Given the description of an element on the screen output the (x, y) to click on. 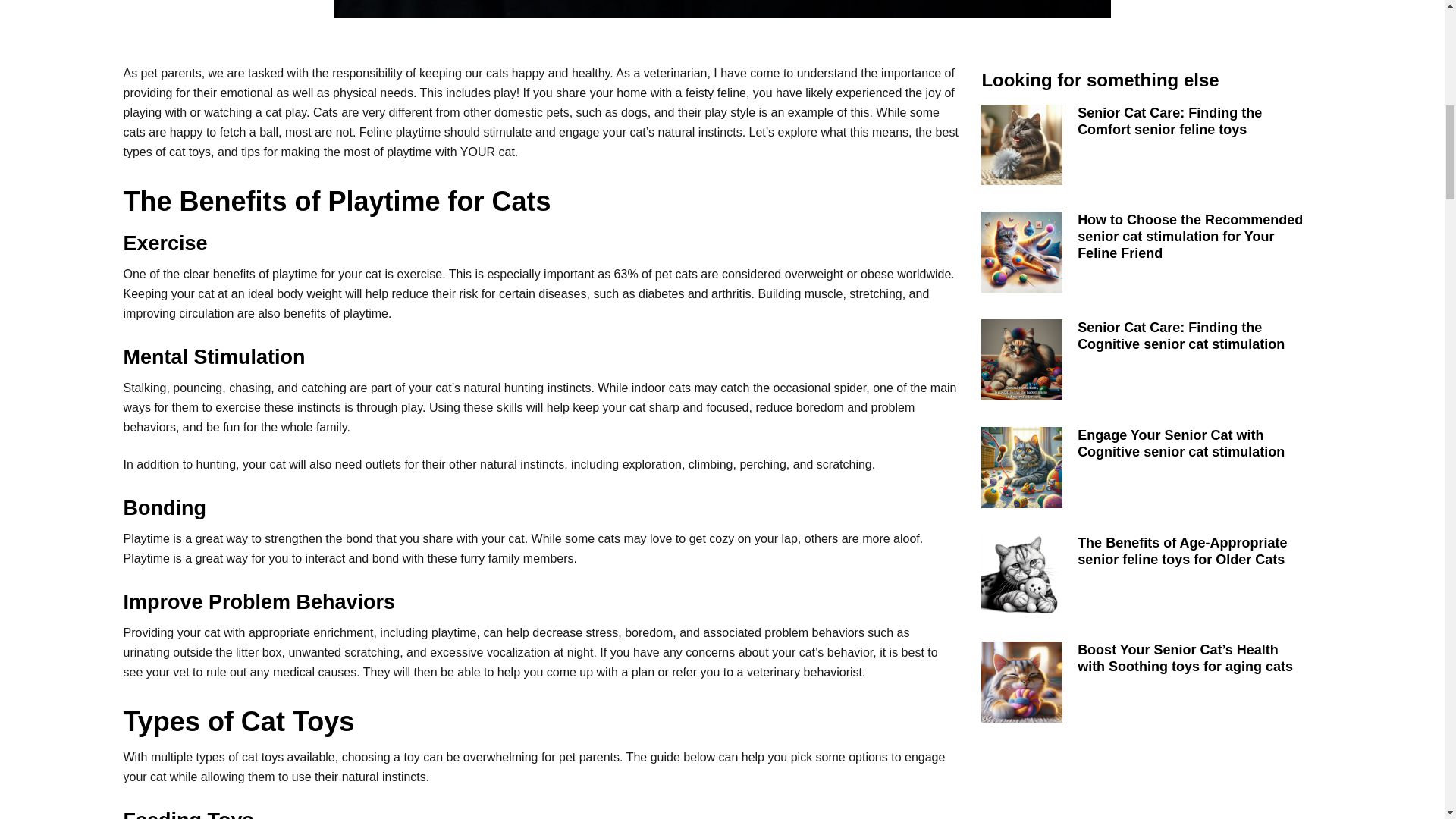
Senior Cat Care: Finding the Comfort senior feline toys (1169, 121)
